Given the description of an element on the screen output the (x, y) to click on. 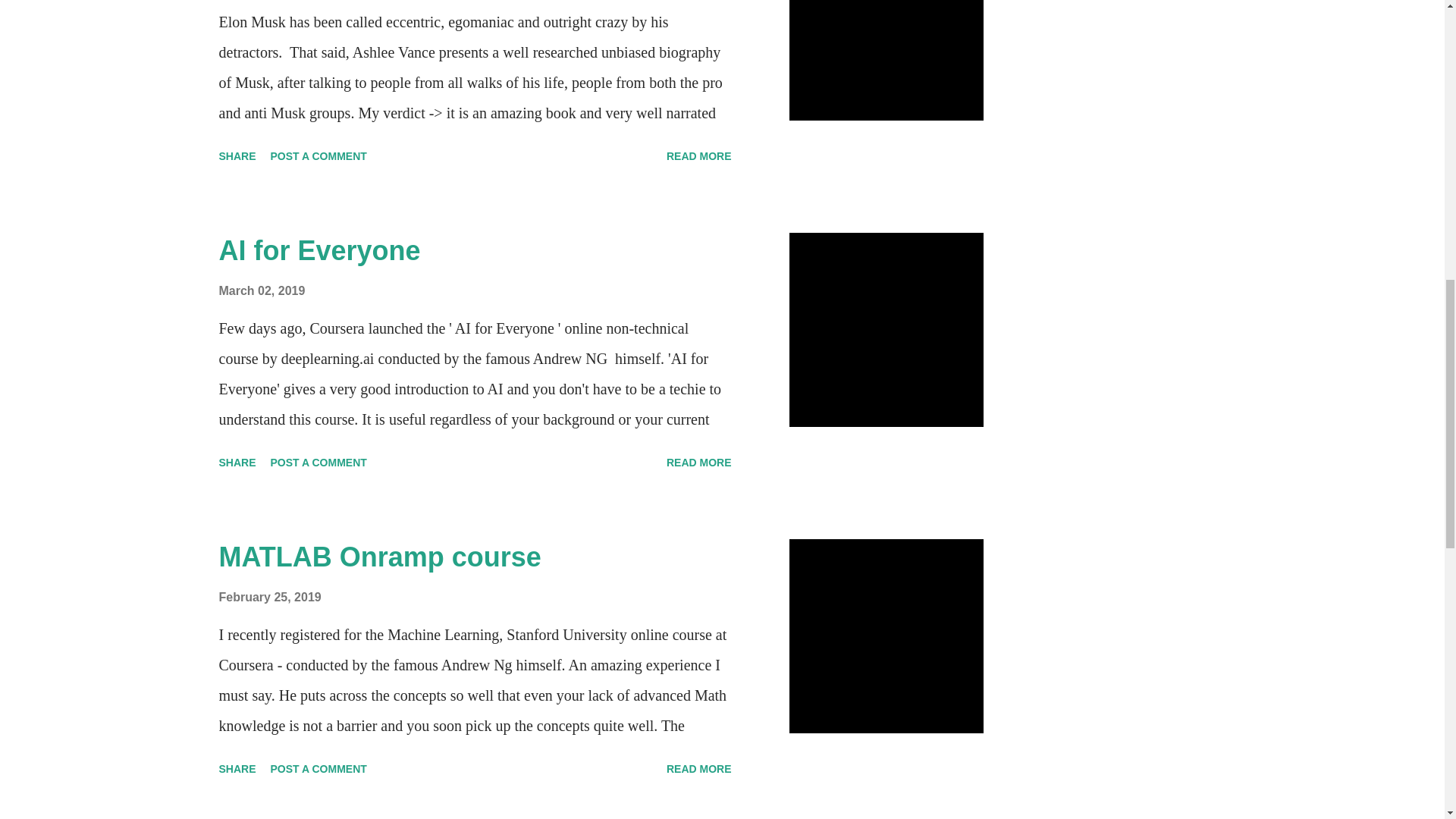
AI for Everyone (319, 250)
SHARE (237, 462)
READ MORE (699, 462)
POST A COMMENT (318, 462)
POST A COMMENT (318, 156)
READ MORE (699, 156)
SHARE (237, 156)
March 02, 2019 (261, 290)
